Given the description of an element on the screen output the (x, y) to click on. 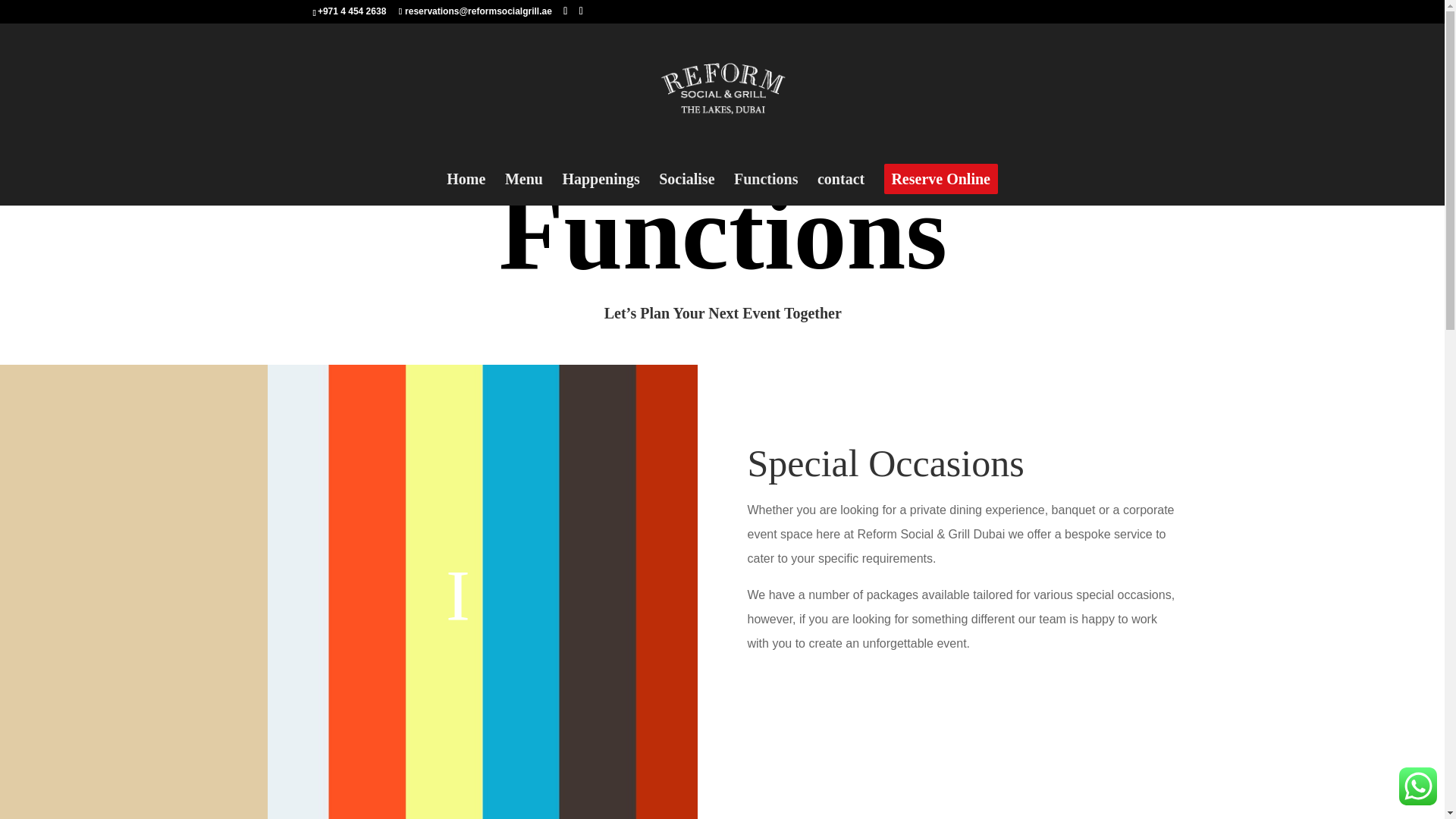
Menu (524, 189)
Reserve Online (940, 178)
Functions (765, 189)
contact (840, 189)
Happenings (600, 189)
Socialise (686, 189)
WhatsApp us (1418, 786)
Home (465, 189)
